Given the description of an element on the screen output the (x, y) to click on. 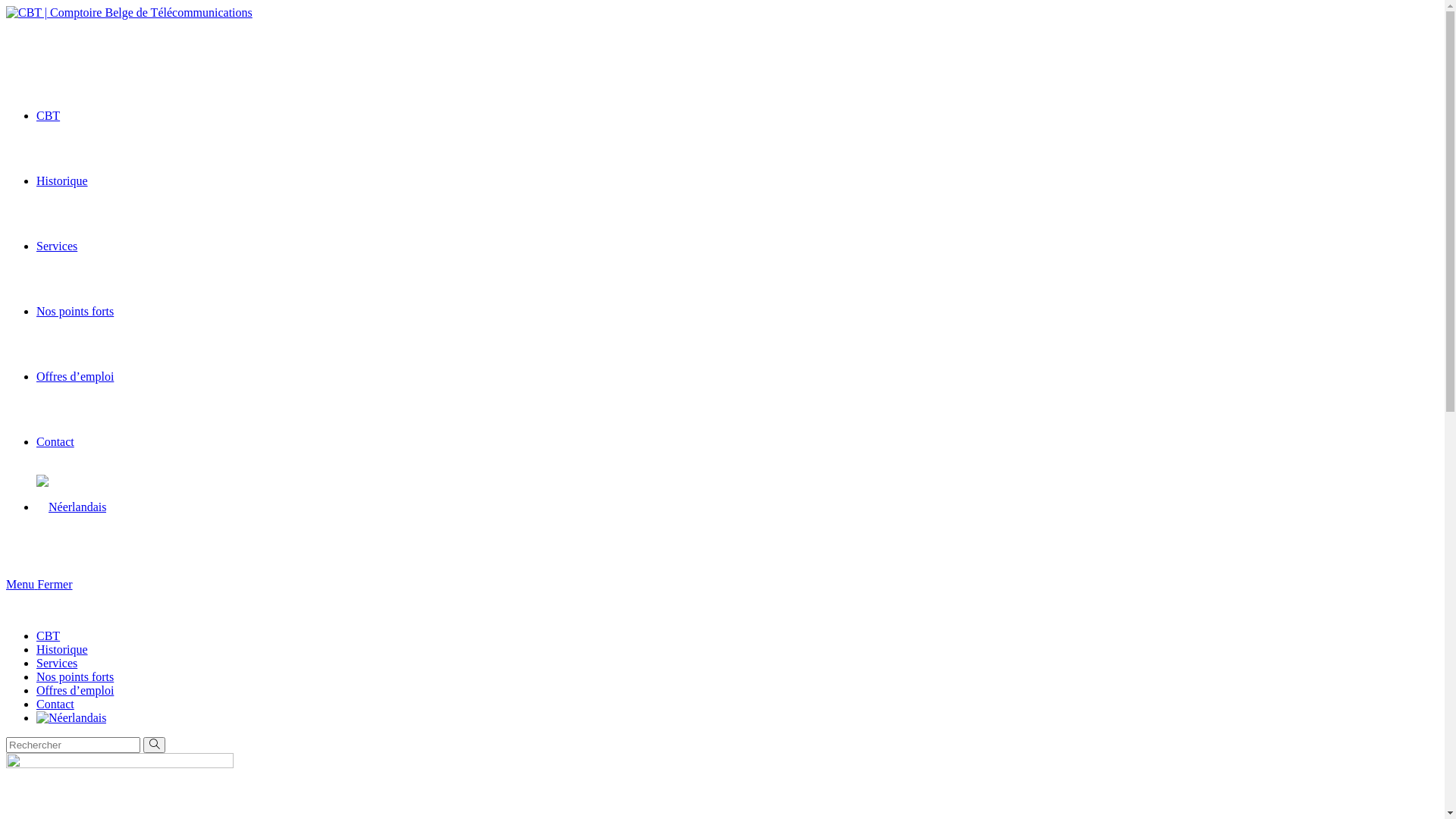
Contact Element type: text (55, 703)
Menu Fermer Element type: text (39, 583)
Historique Element type: text (61, 180)
Nos points forts Element type: text (74, 310)
Contact Element type: text (55, 441)
Historique Element type: text (61, 649)
CBT Element type: text (47, 635)
CBT Element type: text (47, 115)
Nos points forts Element type: text (74, 676)
Services Element type: text (56, 662)
Services Element type: text (56, 245)
Skip to content Element type: text (5, 5)
